Given the description of an element on the screen output the (x, y) to click on. 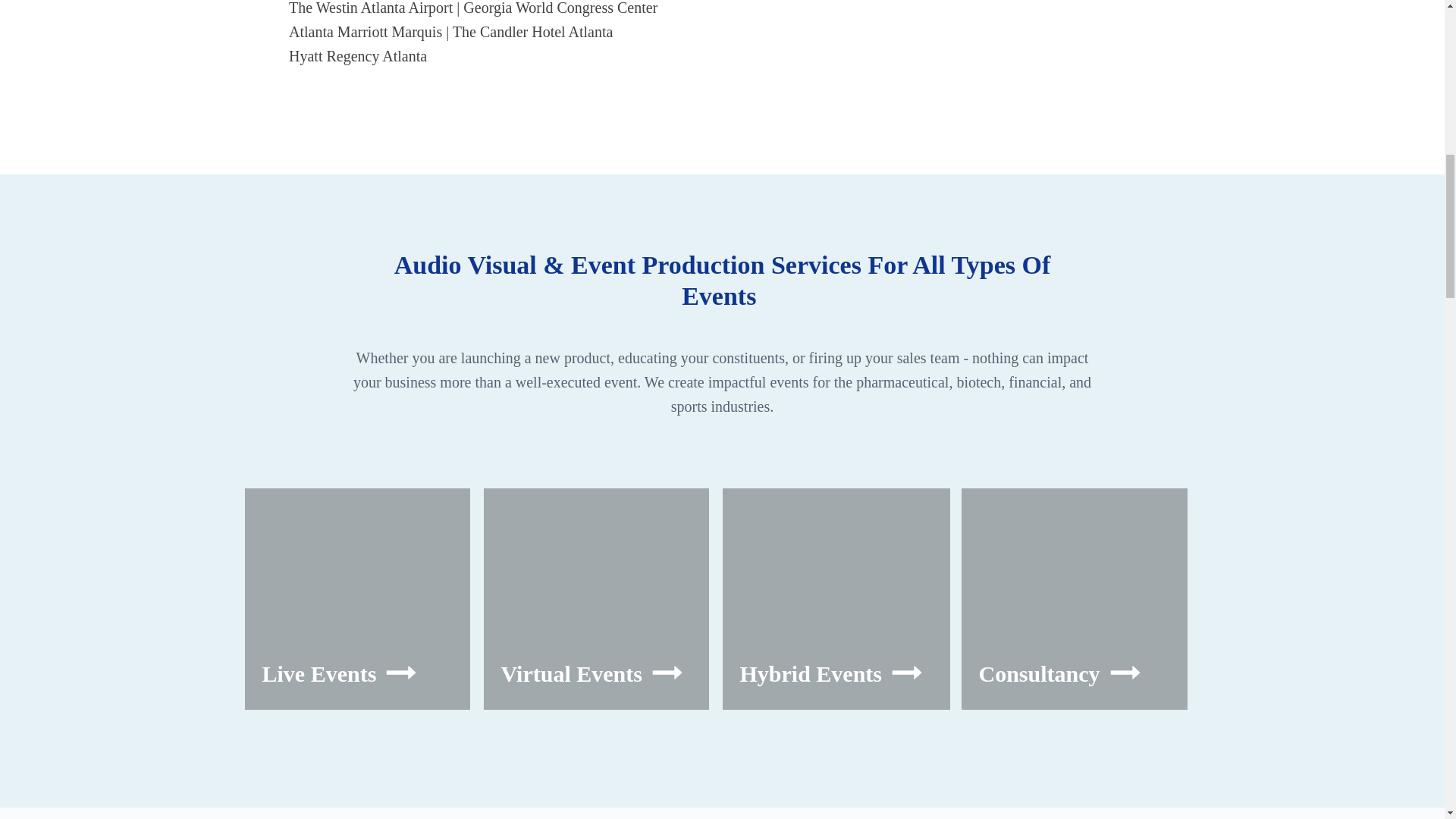
Live Events (357, 599)
Virtual Events (596, 599)
Hybrid Events (835, 599)
Consultancy (1074, 599)
